Given the description of an element on the screen output the (x, y) to click on. 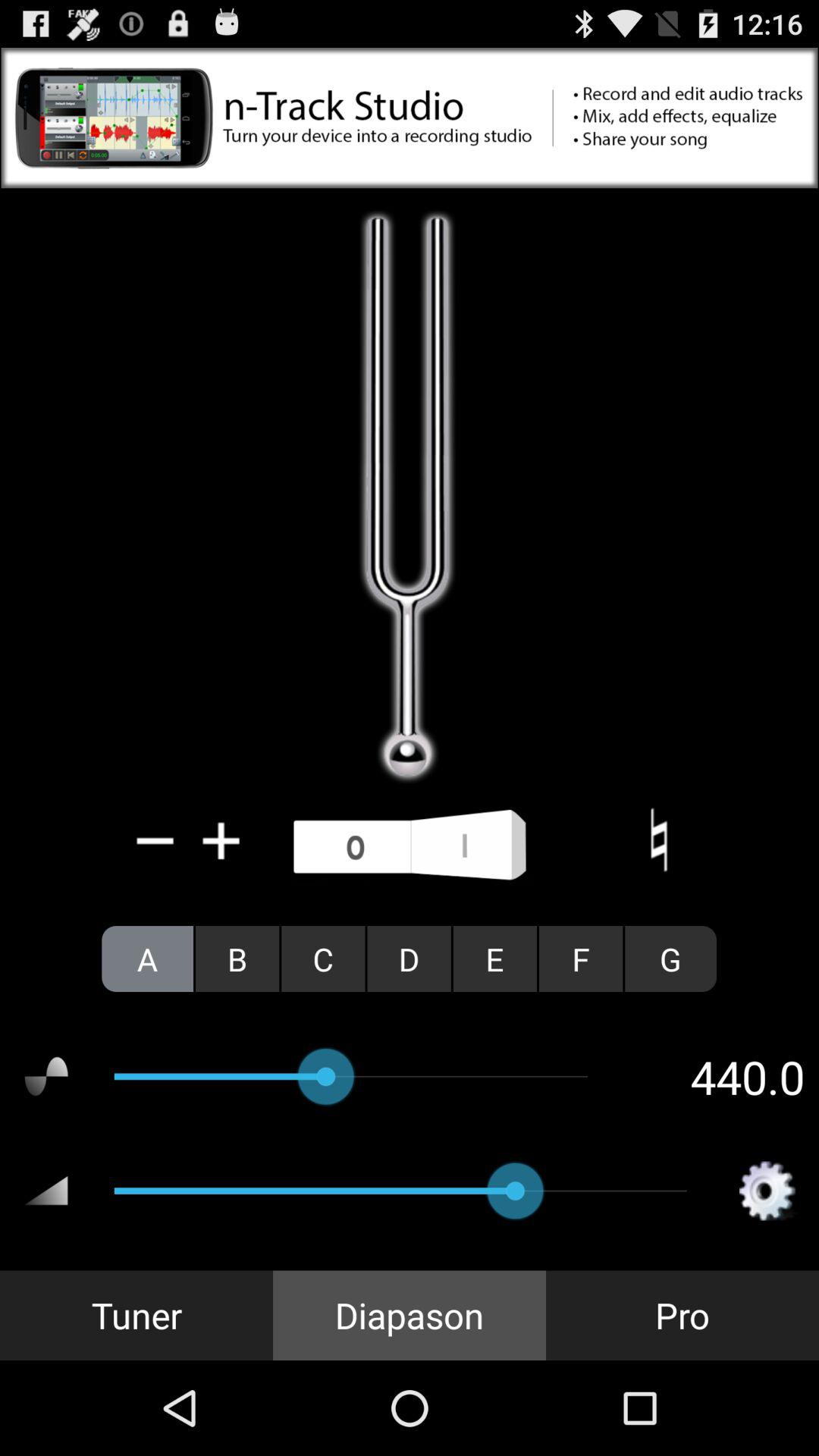
click the icon next to pro icon (409, 1315)
